Given the description of an element on the screen output the (x, y) to click on. 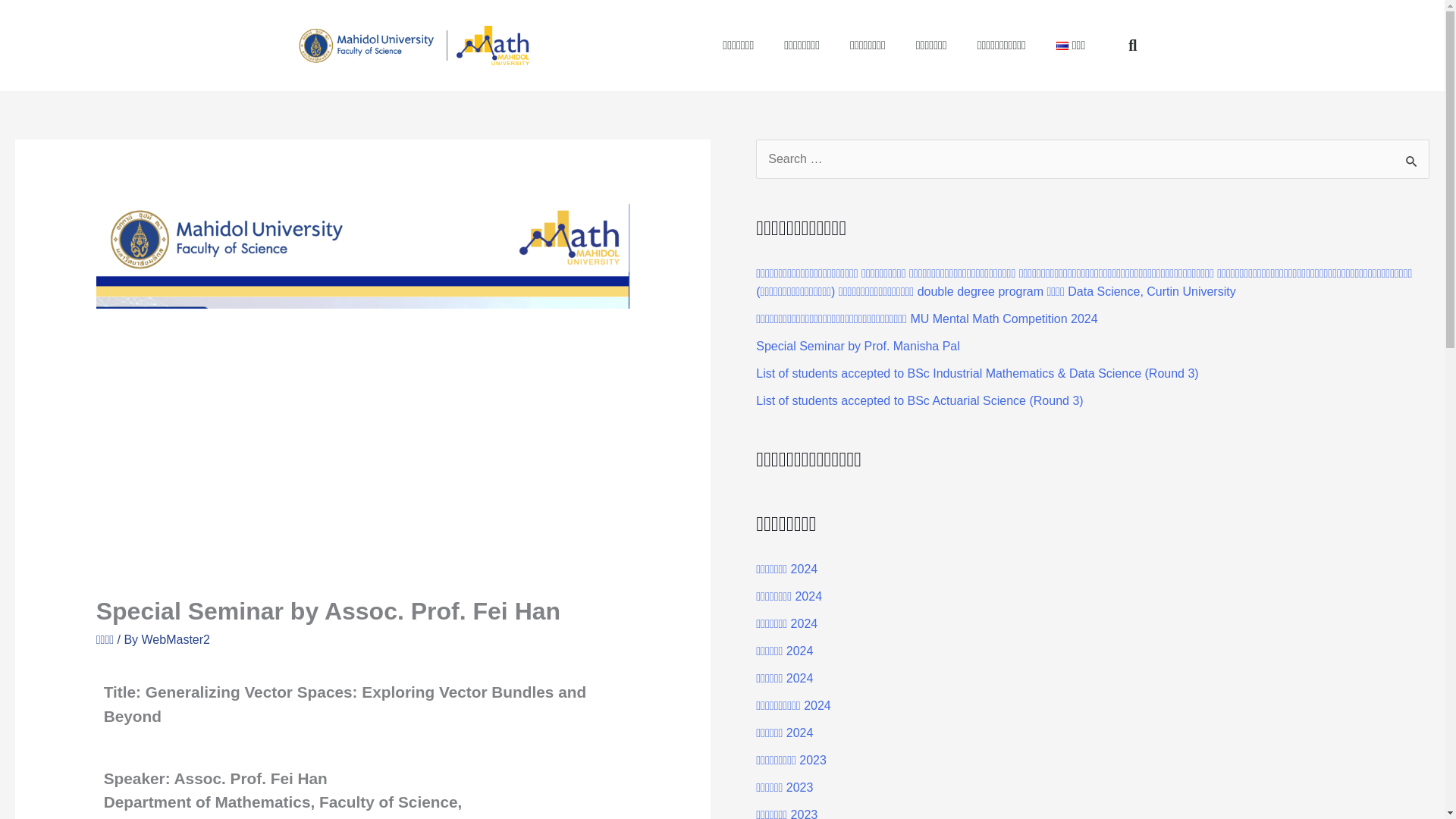
View all posts by WebMaster2 (175, 639)
